Given the description of an element on the screen output the (x, y) to click on. 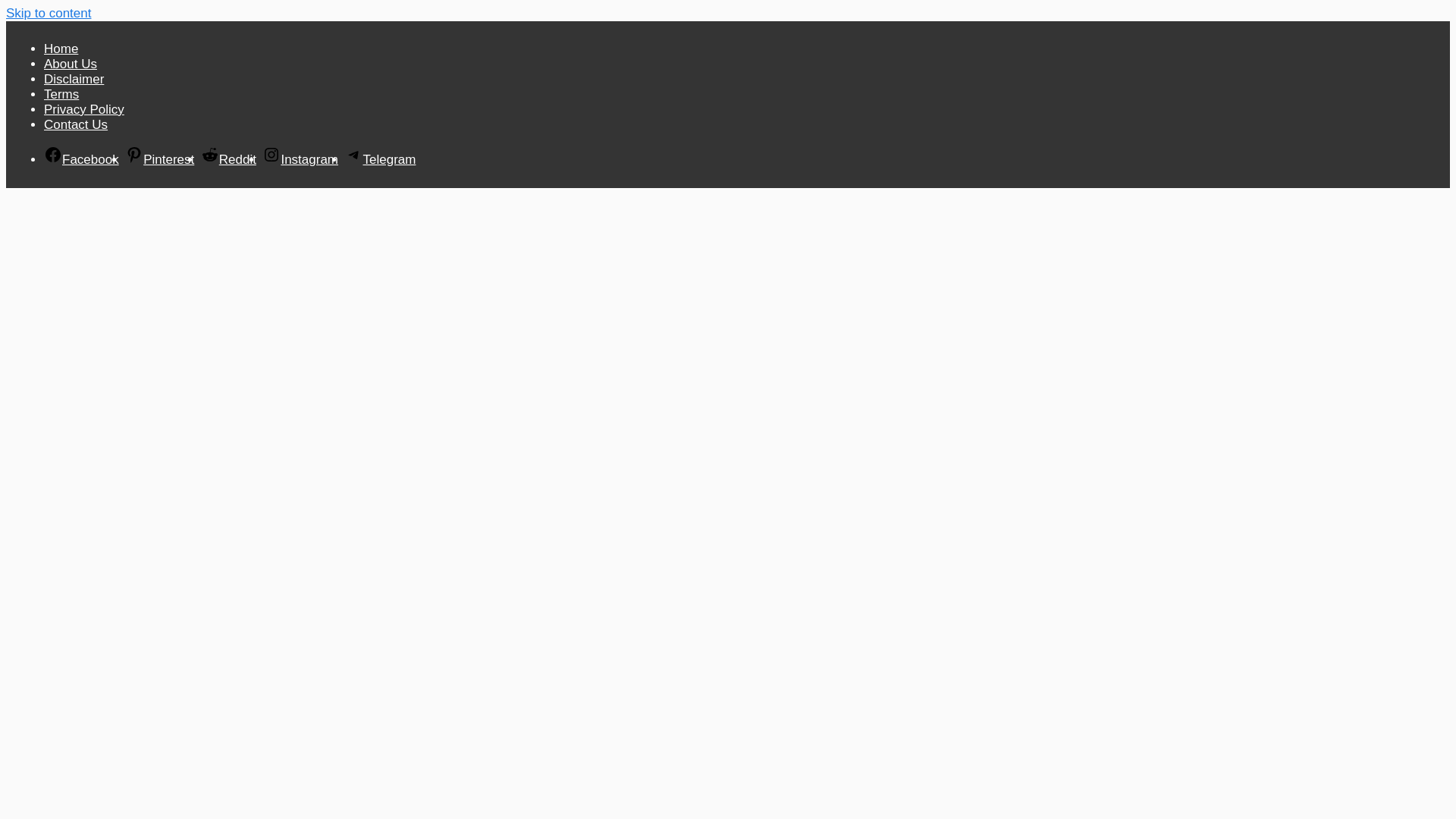
Privacy Policy (523, 24)
Terms (465, 24)
Home (311, 169)
About Us (357, 24)
Jullian (392, 645)
Things To Do (566, 169)
Reddit (1060, 21)
Destinations (388, 169)
Instagram (1096, 21)
Telegram (1133, 21)
Facebook (987, 21)
Disclaimer (414, 24)
View all posts by Jullian (392, 645)
Adventures (478, 169)
Home (309, 24)
